Given the description of an element on the screen output the (x, y) to click on. 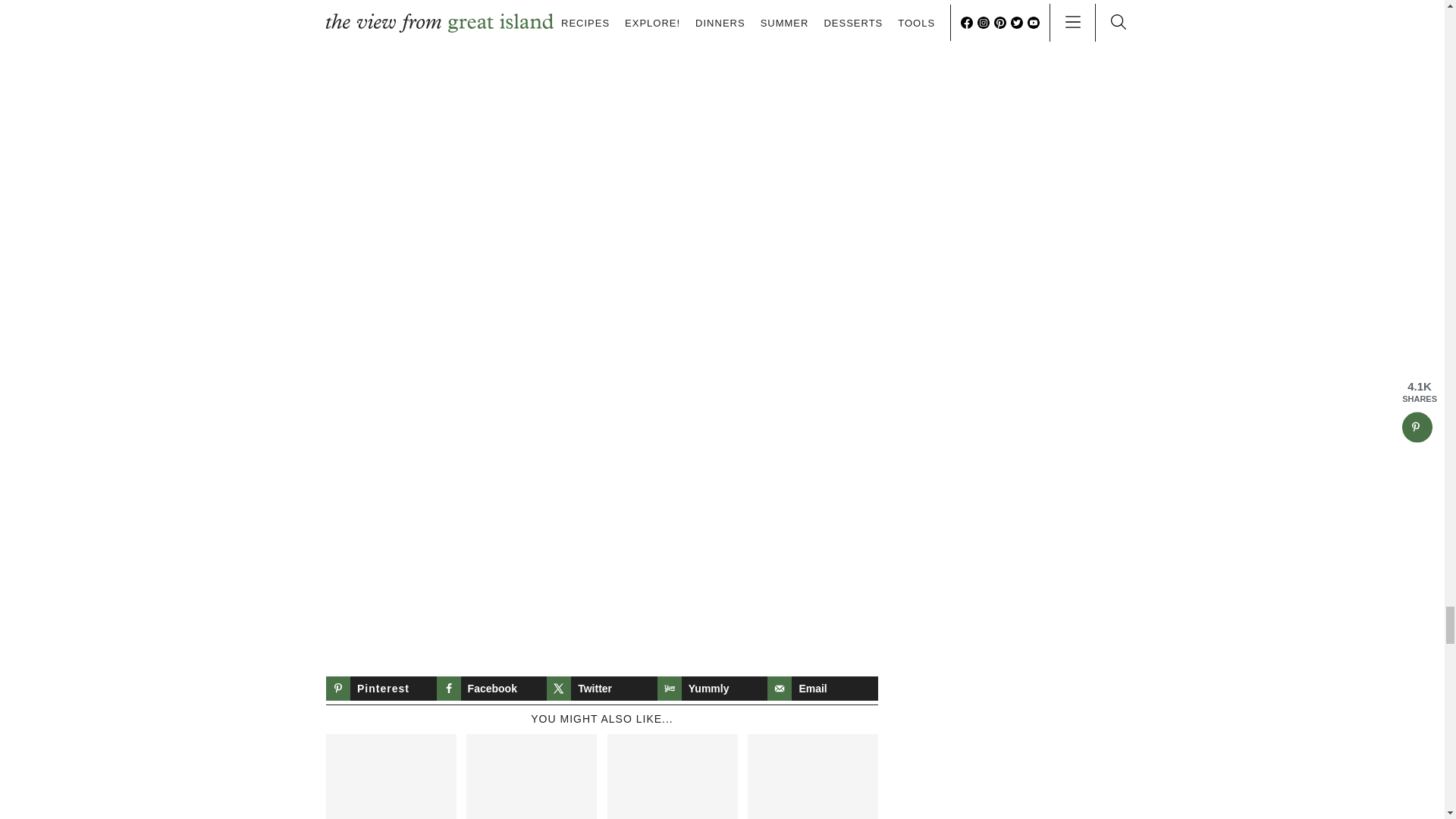
Send over email (822, 688)
Share on X (602, 688)
Save to Pinterest (381, 688)
Share on Facebook (491, 688)
Share on Yummly (713, 688)
